Given the description of an element on the screen output the (x, y) to click on. 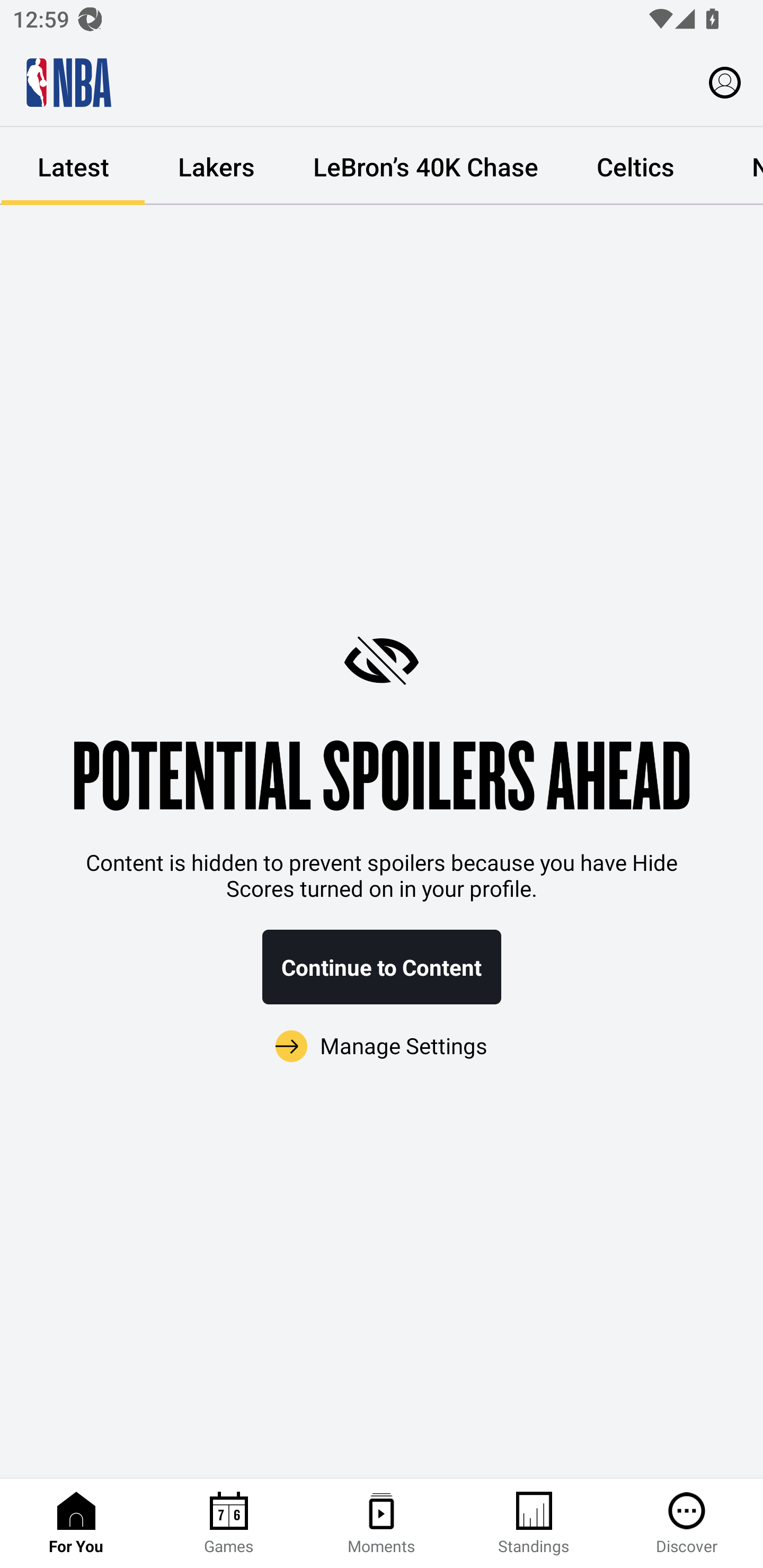
Profile (724, 81)
Lakers (215, 166)
LeBron’s 40K Chase (425, 166)
Celtics (634, 166)
Continue to Content (381, 967)
Manage Settings (381, 1046)
Games (228, 1523)
Moments (381, 1523)
Standings (533, 1523)
Discover (686, 1523)
